Given the description of an element on the screen output the (x, y) to click on. 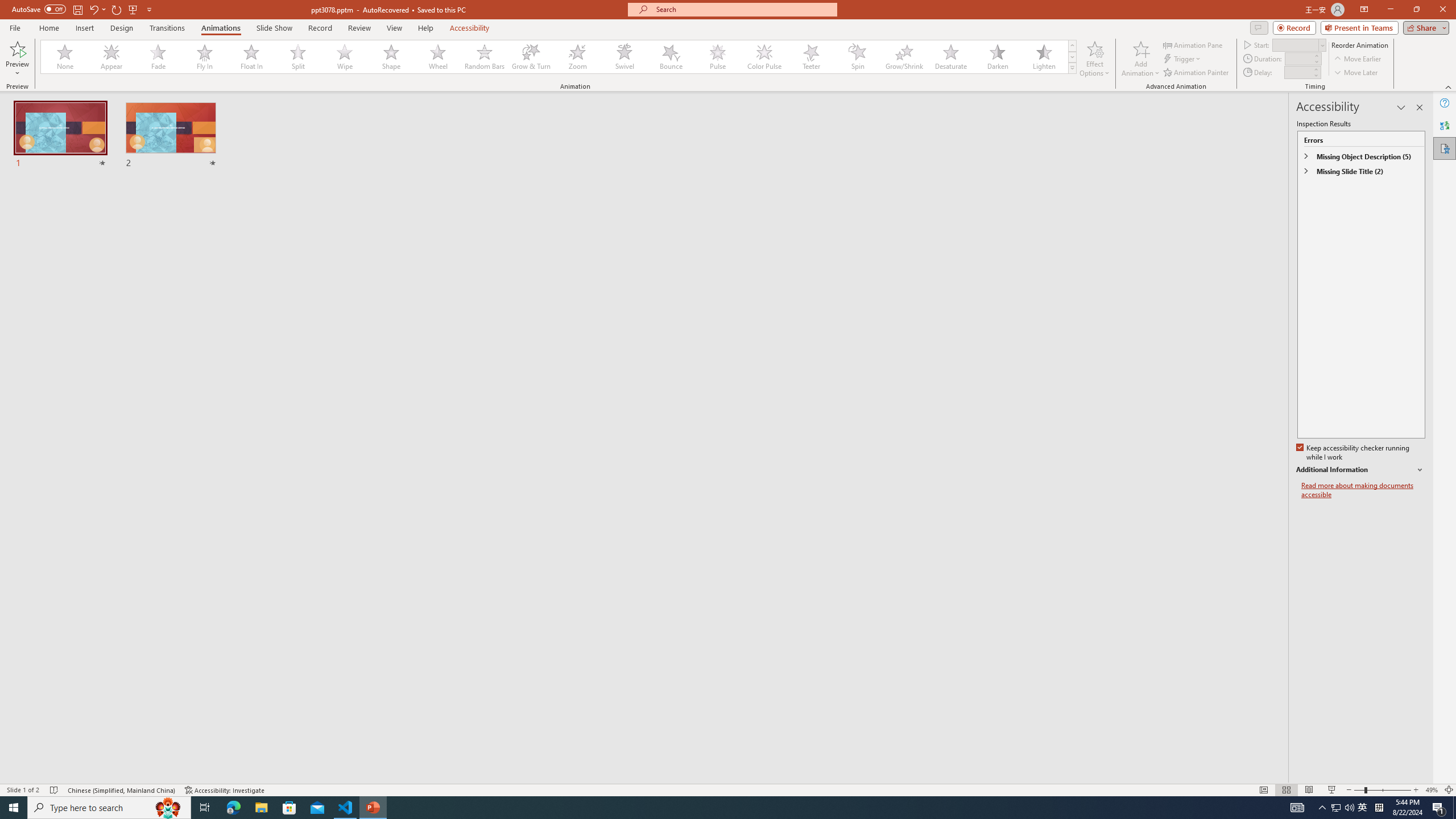
Trigger (1182, 58)
Random Bars (484, 56)
Bounce (670, 56)
Fly In (205, 56)
Darken (997, 56)
Color Pulse (764, 56)
Move Later (1355, 72)
Desaturate (950, 56)
